Given the description of an element on the screen output the (x, y) to click on. 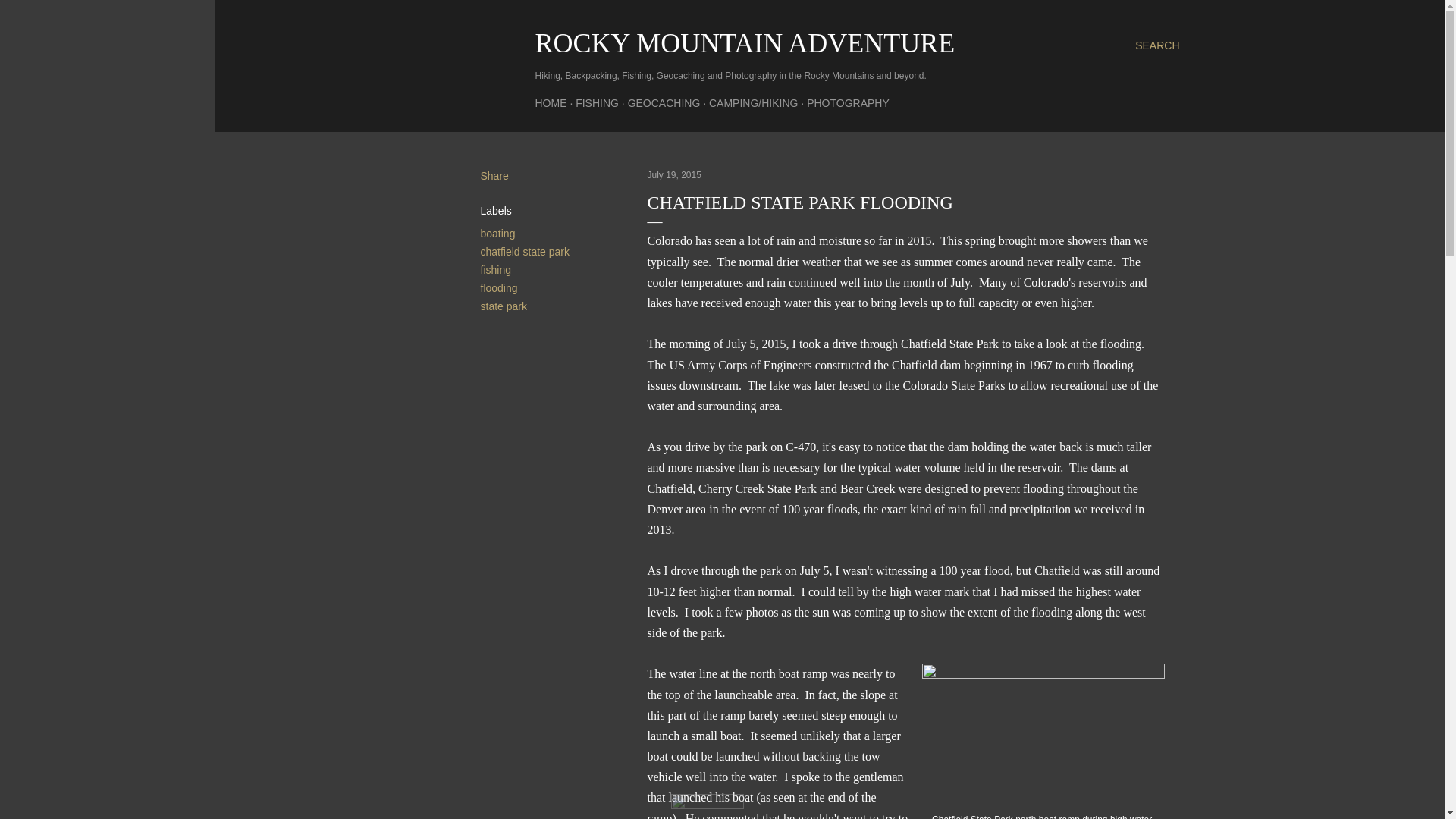
flooding (499, 287)
fishing (495, 269)
GEOCACHING (663, 102)
ROCKY MOUNTAIN ADVENTURE (745, 42)
PHOTOGRAPHY (847, 102)
permanent link (674, 174)
July 19, 2015 (674, 174)
boating (497, 233)
SEARCH (1157, 45)
FISHING (596, 102)
state park (503, 306)
chatfield state park (525, 251)
Share (494, 175)
HOME (551, 102)
